Given the description of an element on the screen output the (x, y) to click on. 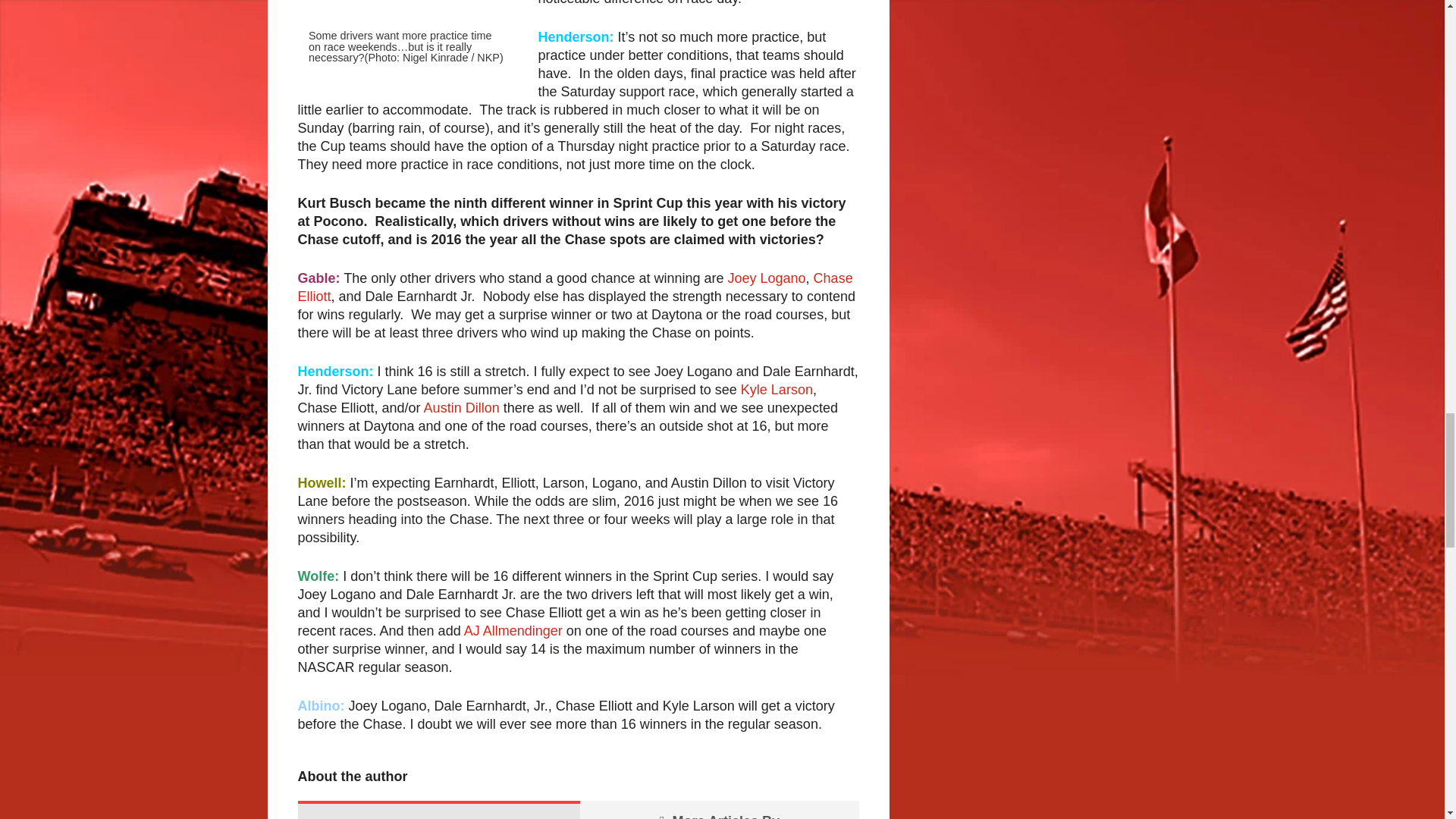
Chase Elliott (574, 287)
AJ Allmendinger (513, 630)
Kyle Larson (776, 389)
Austin Dillon (461, 407)
Joey Logano (767, 278)
